Given the description of an element on the screen output the (x, y) to click on. 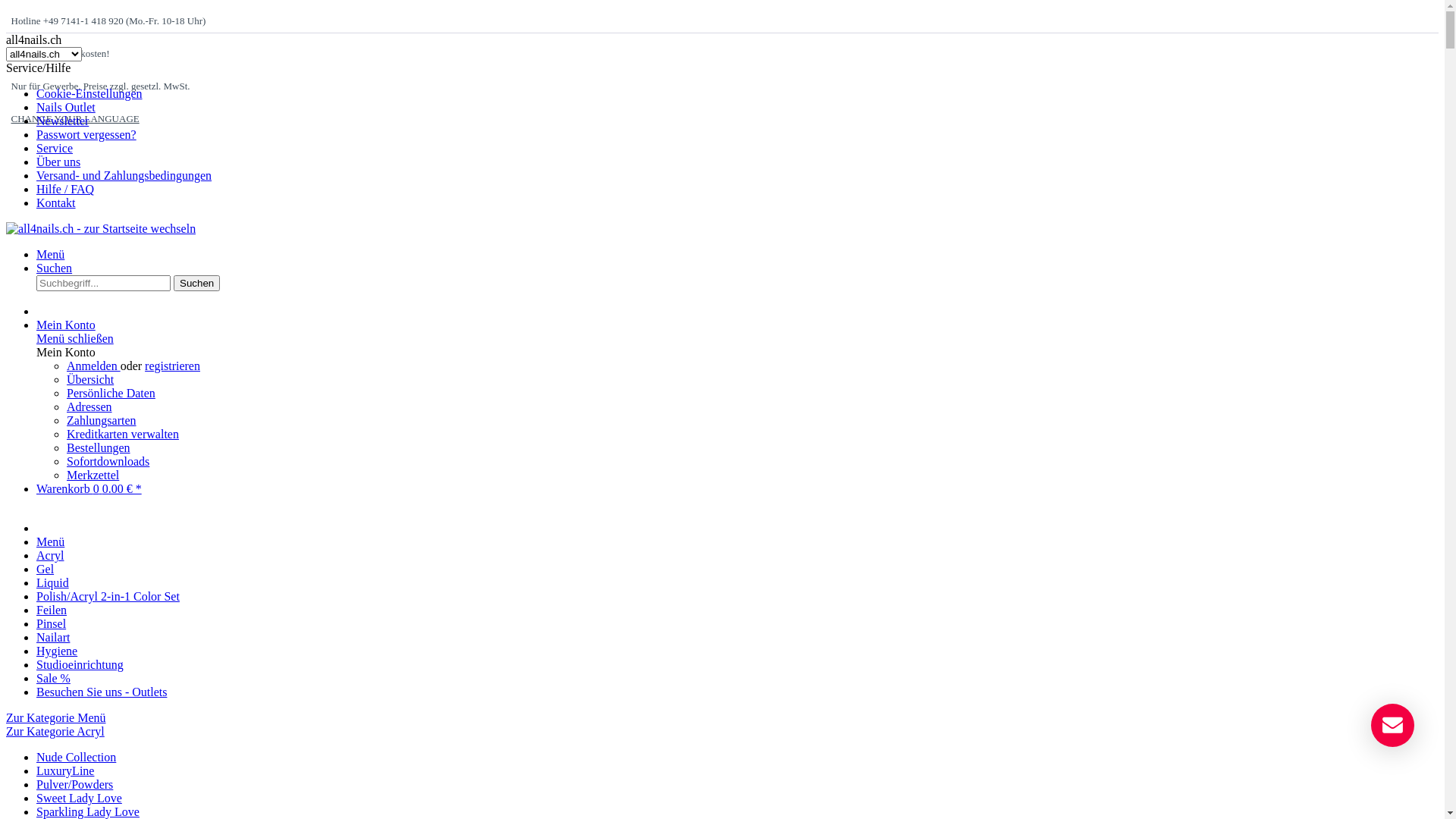
Nailart Element type: text (52, 636)
Polish/Acryl 2-in-1 Color Set Element type: text (107, 595)
all4nails.ch - zur Startseite wechseln Element type: hover (100, 228)
Sale % Element type: text (53, 677)
Hilfe / FAQ Element type: text (65, 188)
CHANGE YOUR LANGUAGE Element type: text (74, 118)
Merkzettel Element type: text (92, 474)
Passwort vergessen? Element type: text (86, 134)
Feilen Element type: text (51, 609)
Nails Outlet Element type: text (65, 106)
Sofortdownloads Element type: text (107, 461)
Cookie-Einstellungen Element type: text (89, 93)
LuxuryLine Element type: text (65, 770)
Versand- und Zahlungsbedingungen Element type: text (123, 175)
Pulver/Powders Element type: text (74, 784)
Gel Element type: text (44, 568)
Suchen Element type: text (196, 283)
Service Element type: text (54, 147)
Hygiene Element type: text (56, 650)
Sparkling Lady Love Element type: text (87, 811)
Suchen Element type: text (54, 267)
registrieren Element type: text (172, 365)
Kreditkarten verwalten Element type: text (122, 433)
Zur Kategorie Acryl Element type: text (55, 730)
Besuchen Sie uns - Outlets Element type: text (101, 691)
Newsletter Element type: text (62, 120)
Kontakt Element type: text (55, 202)
Nude Collection Element type: text (76, 756)
Mein Konto Element type: text (65, 324)
Liquid Element type: text (52, 582)
Bestellungen Element type: text (98, 447)
Zahlungsarten Element type: text (101, 420)
Adressen Element type: text (89, 406)
Pinsel Element type: text (50, 623)
Studioeinrichtung Element type: text (79, 664)
Anmelden Element type: text (93, 365)
Sweet Lady Love Element type: text (79, 797)
Acryl Element type: text (49, 555)
